Given the description of an element on the screen output the (x, y) to click on. 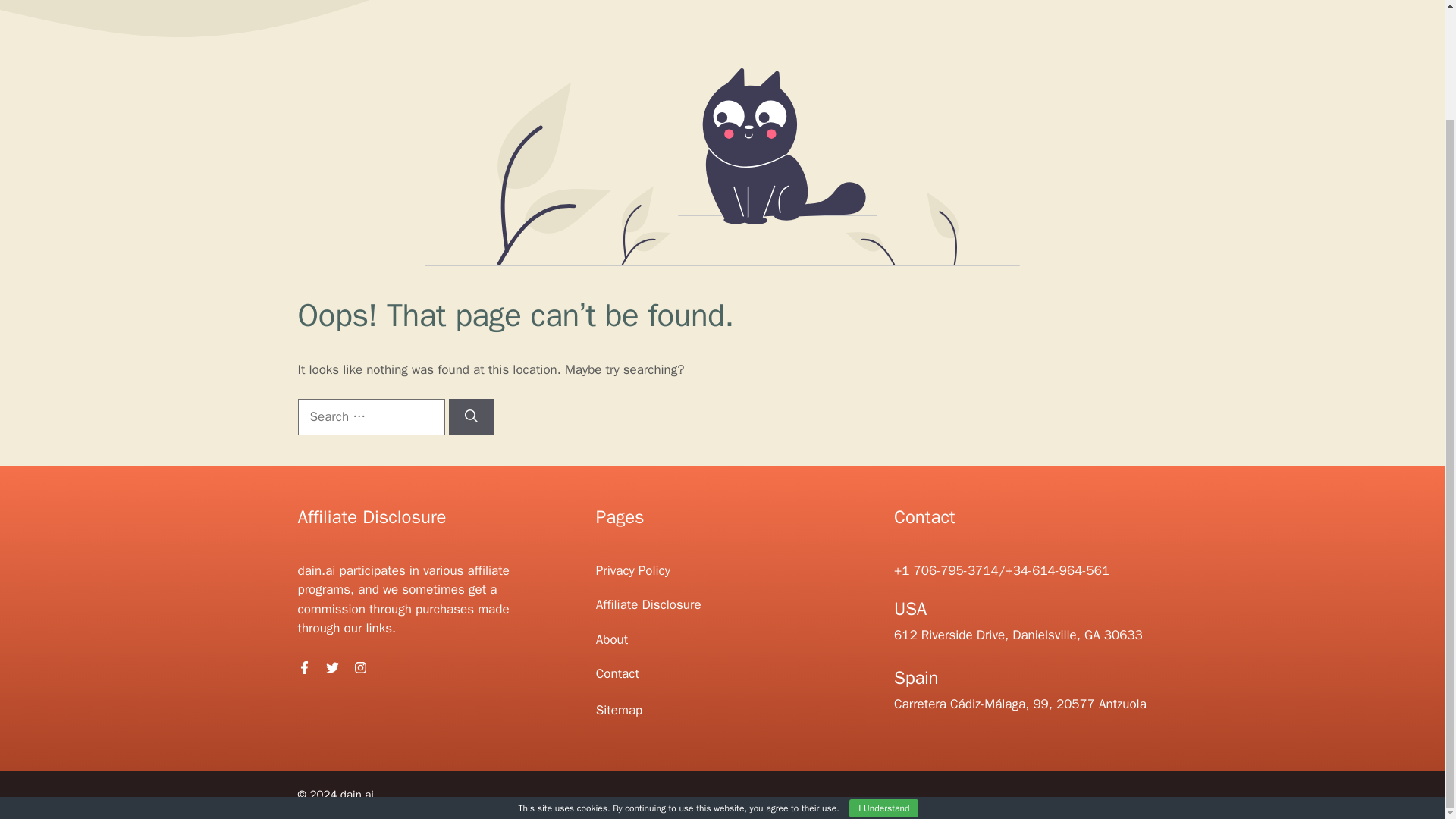
Contact (617, 673)
About (611, 639)
Search for: (370, 416)
Privacy Policy (632, 570)
Affiliate Disclosure (648, 604)
I Understand (883, 679)
Sitemap (618, 709)
